Given the description of an element on the screen output the (x, y) to click on. 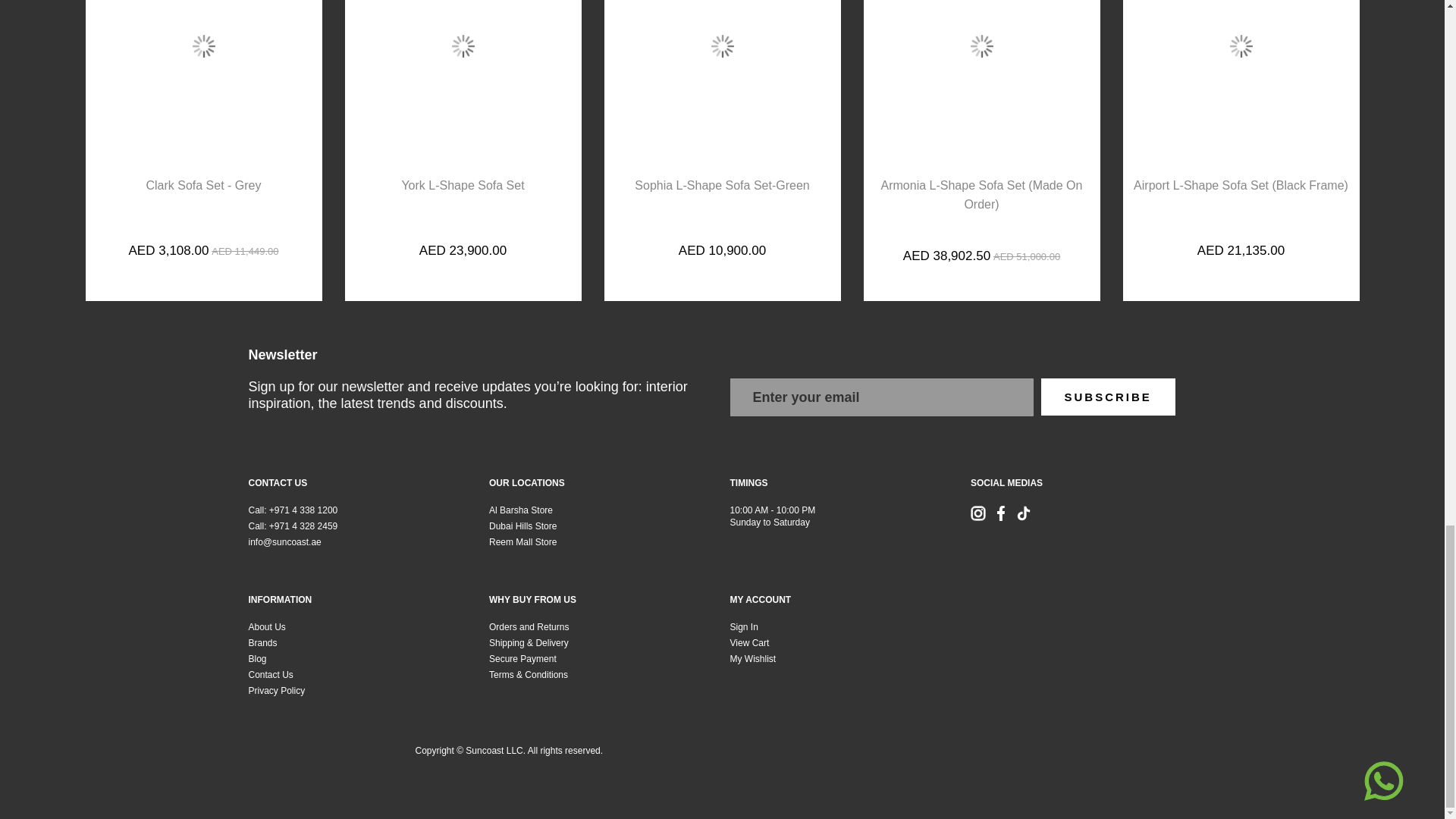
Clark Sofa Set - Grey  (202, 189)
